Given the description of an element on the screen output the (x, y) to click on. 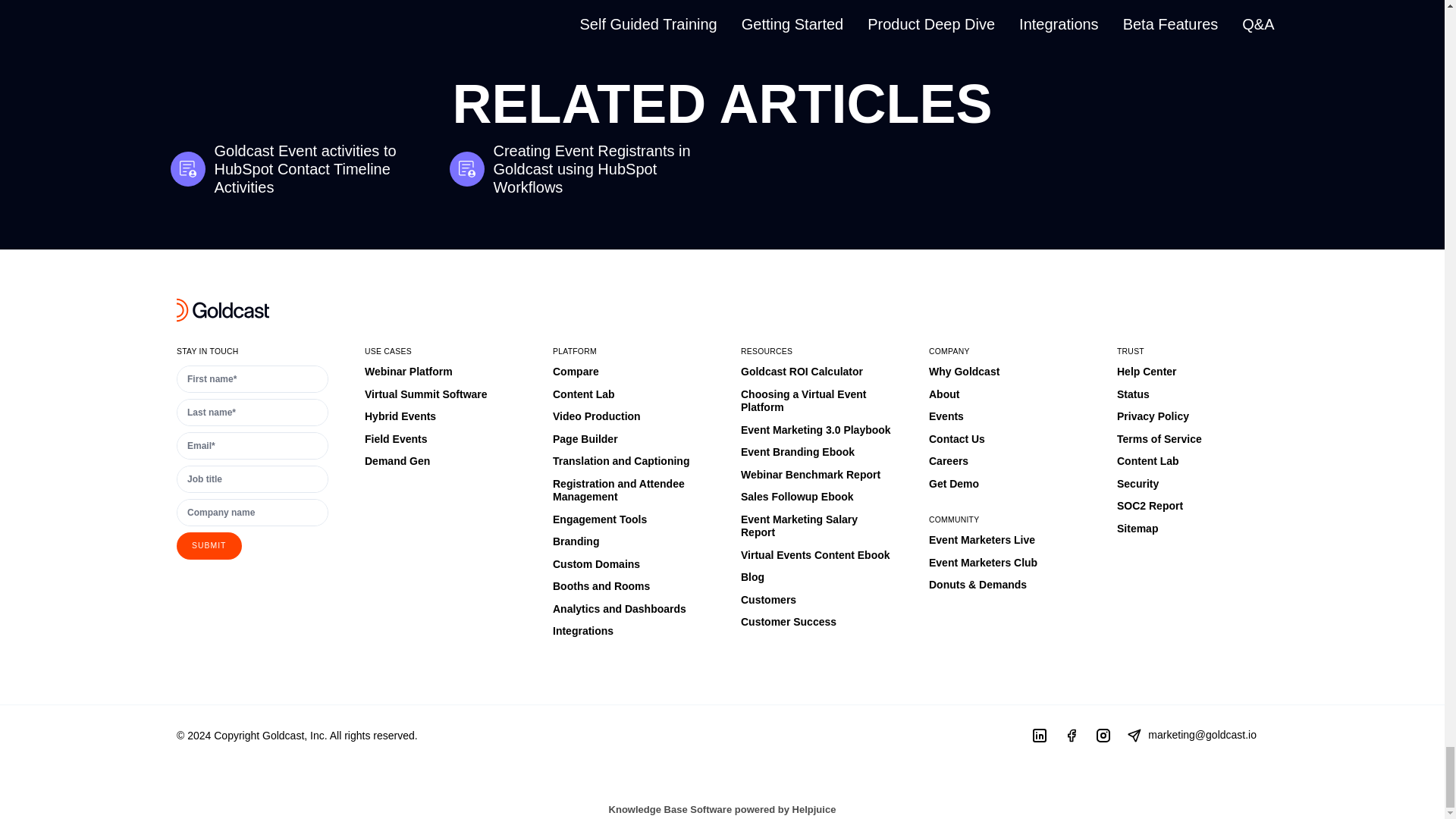
Submit (208, 545)
